Given the description of an element on the screen output the (x, y) to click on. 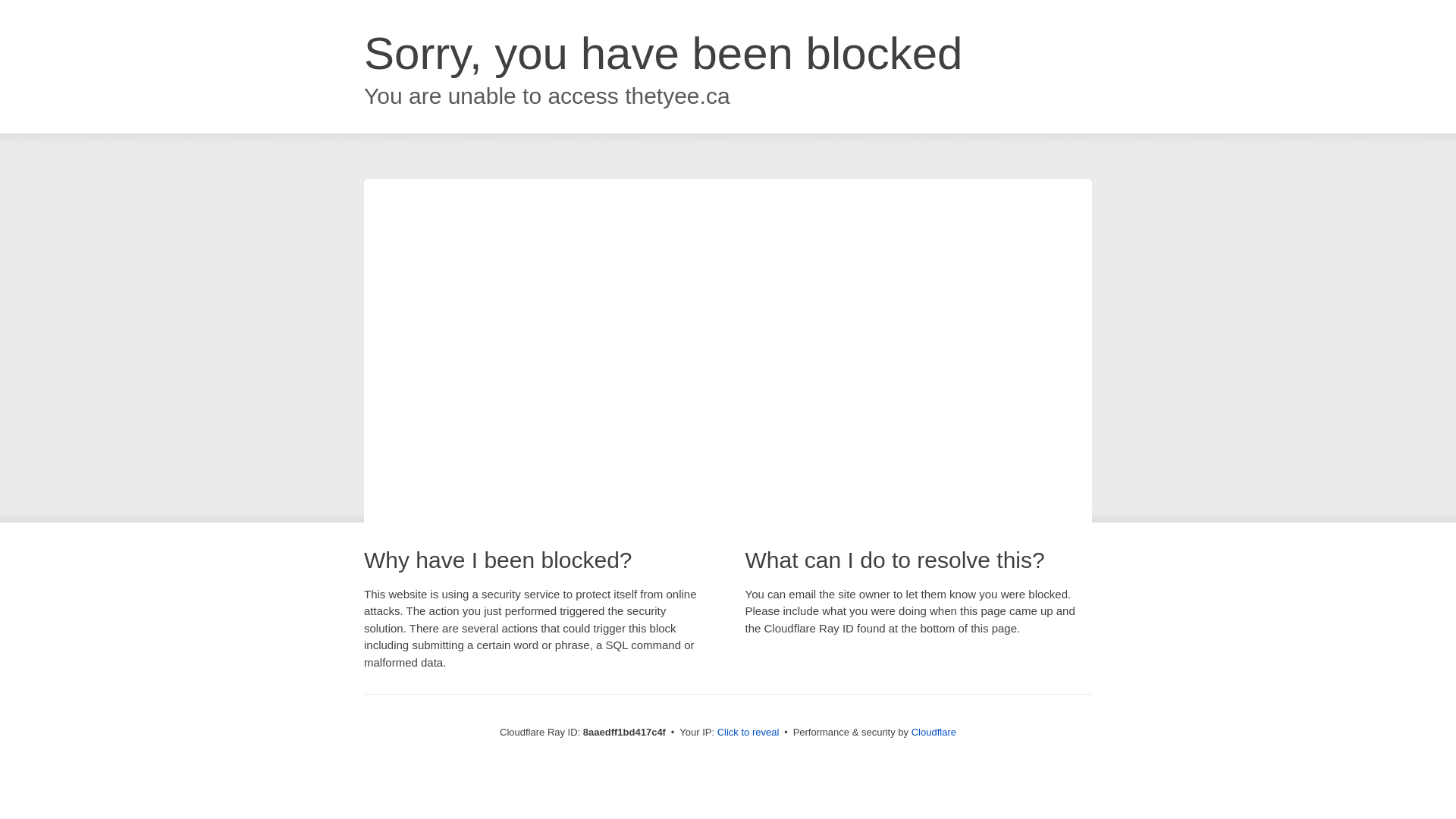
Cloudflare (933, 731)
Click to reveal (747, 732)
